Given the description of an element on the screen output the (x, y) to click on. 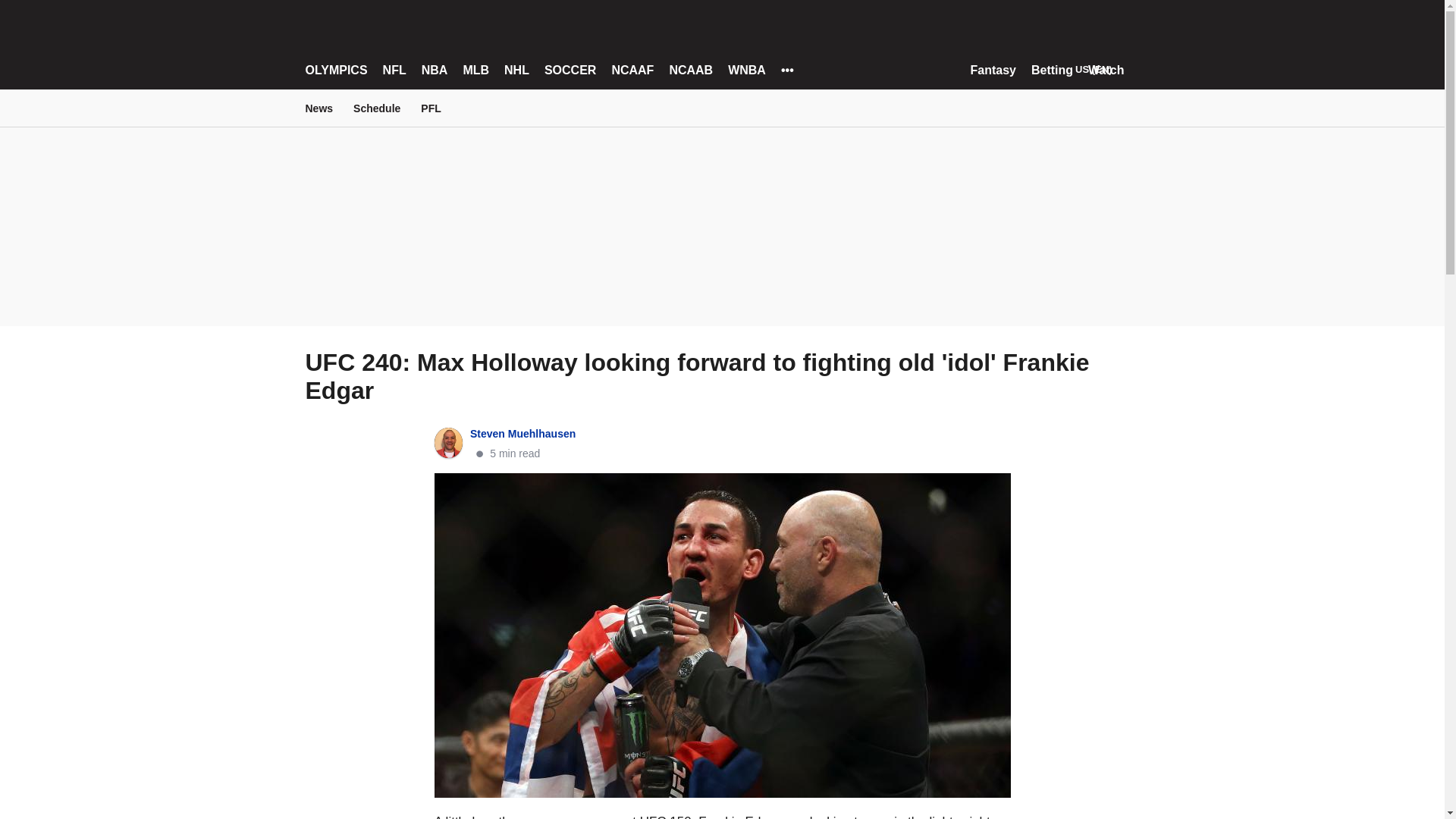
NFL (394, 70)
NHL (516, 70)
NBA (435, 70)
SOCCER (569, 70)
WNBA (746, 70)
NCAAF (632, 70)
MLB (476, 70)
NCAAB (690, 70)
OLYMPICS (335, 70)
